Given the description of an element on the screen output the (x, y) to click on. 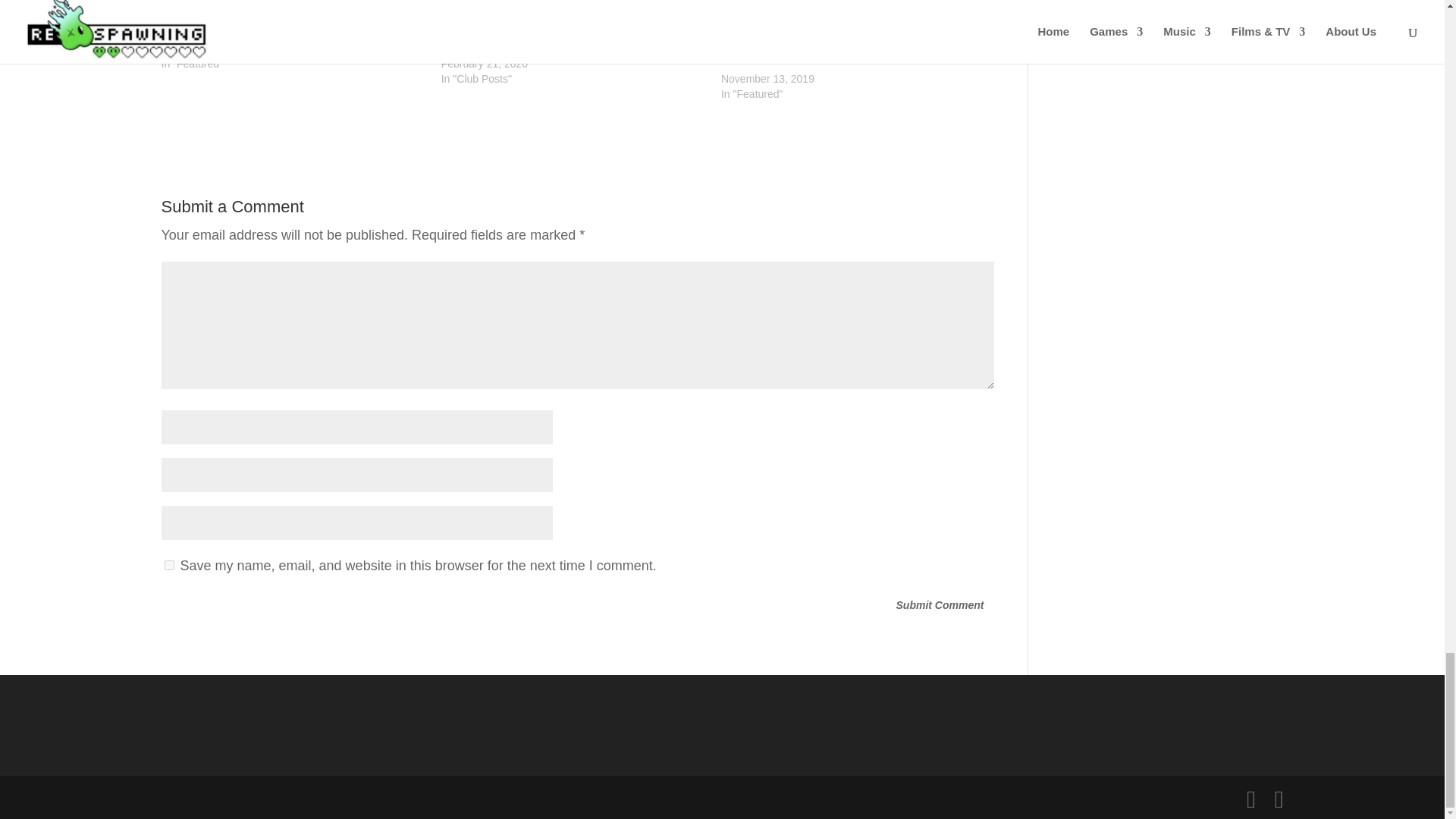
yes (168, 565)
Submit Comment (939, 604)
Unpopular Opinion: Video Game Movies Are a Good Thing! (564, 32)
Unpopular Opinion: Video Game Movies Are a Good Thing! (573, 9)
